Given the description of an element on the screen output the (x, y) to click on. 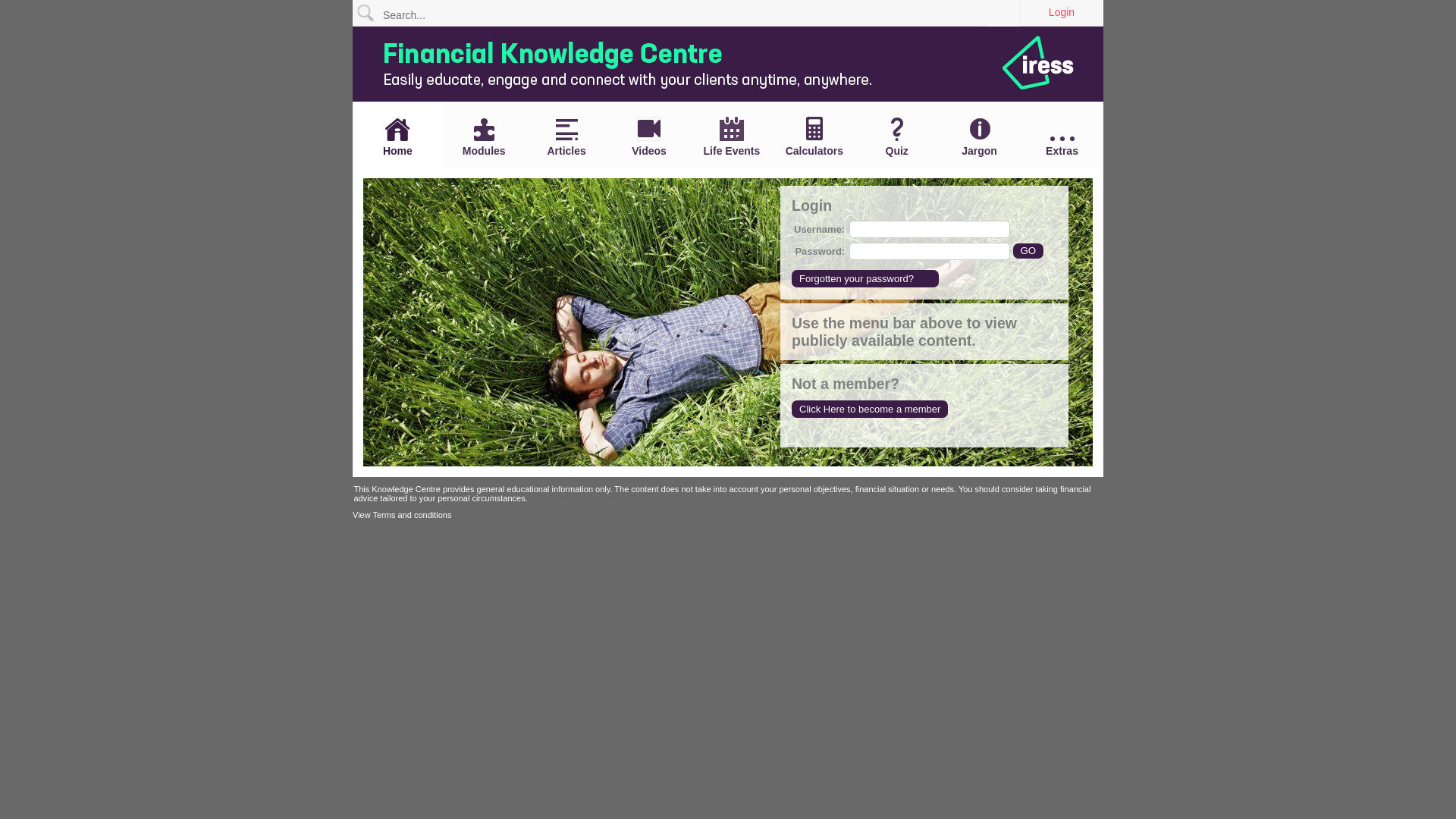
Home Element type: text (397, 136)
View Terms and conditions Element type: text (401, 514)
GO Element type: text (1028, 249)
Articles Element type: text (566, 137)
Jargon Element type: text (979, 136)
Quiz Element type: text (896, 136)
Calculators Element type: text (813, 136)
Forgotten your password? Element type: text (864, 278)
Life Events Element type: text (731, 136)
Videos Element type: text (649, 136)
Click Here to become a member Element type: text (869, 408)
Modules Element type: text (483, 136)
Extras Element type: text (1061, 146)
